Given the description of an element on the screen output the (x, y) to click on. 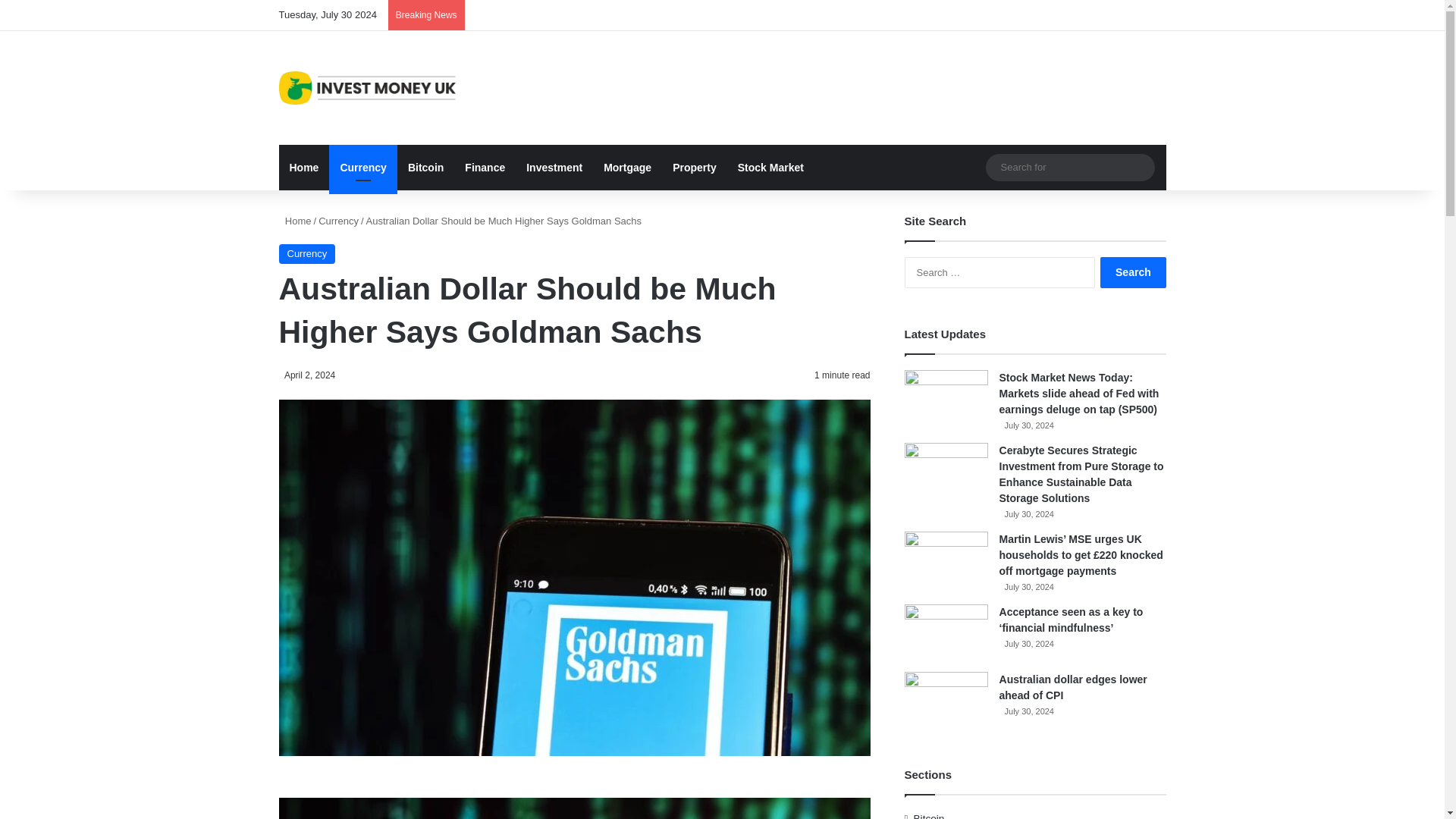
Property (694, 167)
Invest Money UK (367, 87)
Investment (553, 167)
Currency (307, 253)
Finance (484, 167)
Home (295, 220)
Bitcoin (425, 167)
Search (1133, 272)
Mortgage (627, 167)
Stock Market (769, 167)
Currency (338, 220)
Currency (362, 167)
Search for (1139, 166)
Home (304, 167)
Search for (1069, 167)
